Given the description of an element on the screen output the (x, y) to click on. 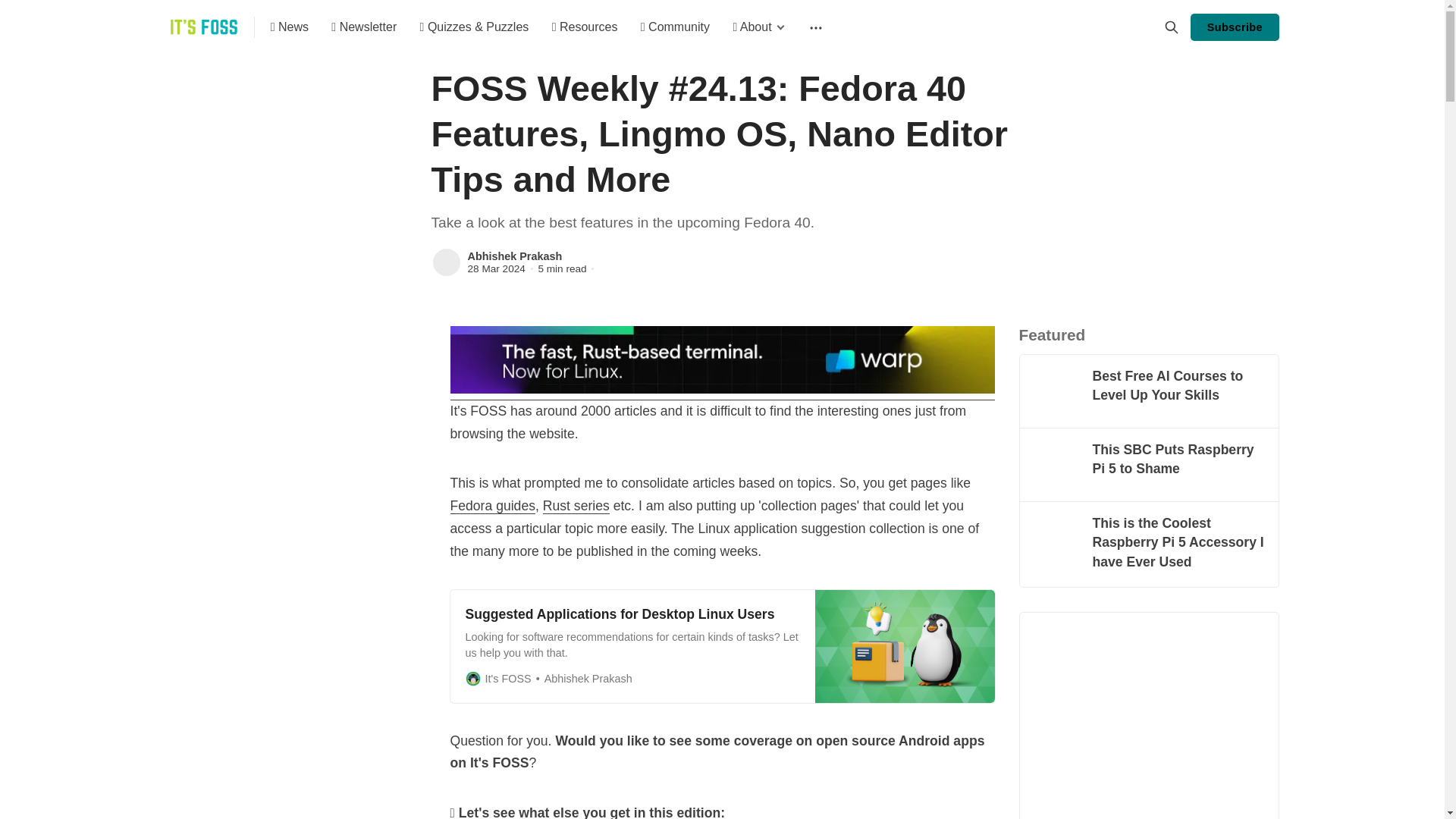
Subscribe (1234, 26)
Search (1171, 26)
Fedora guides (492, 505)
Abhishek Prakash (514, 256)
Abhishek Prakash (445, 262)
Rust series (576, 505)
